Given the description of an element on the screen output the (x, y) to click on. 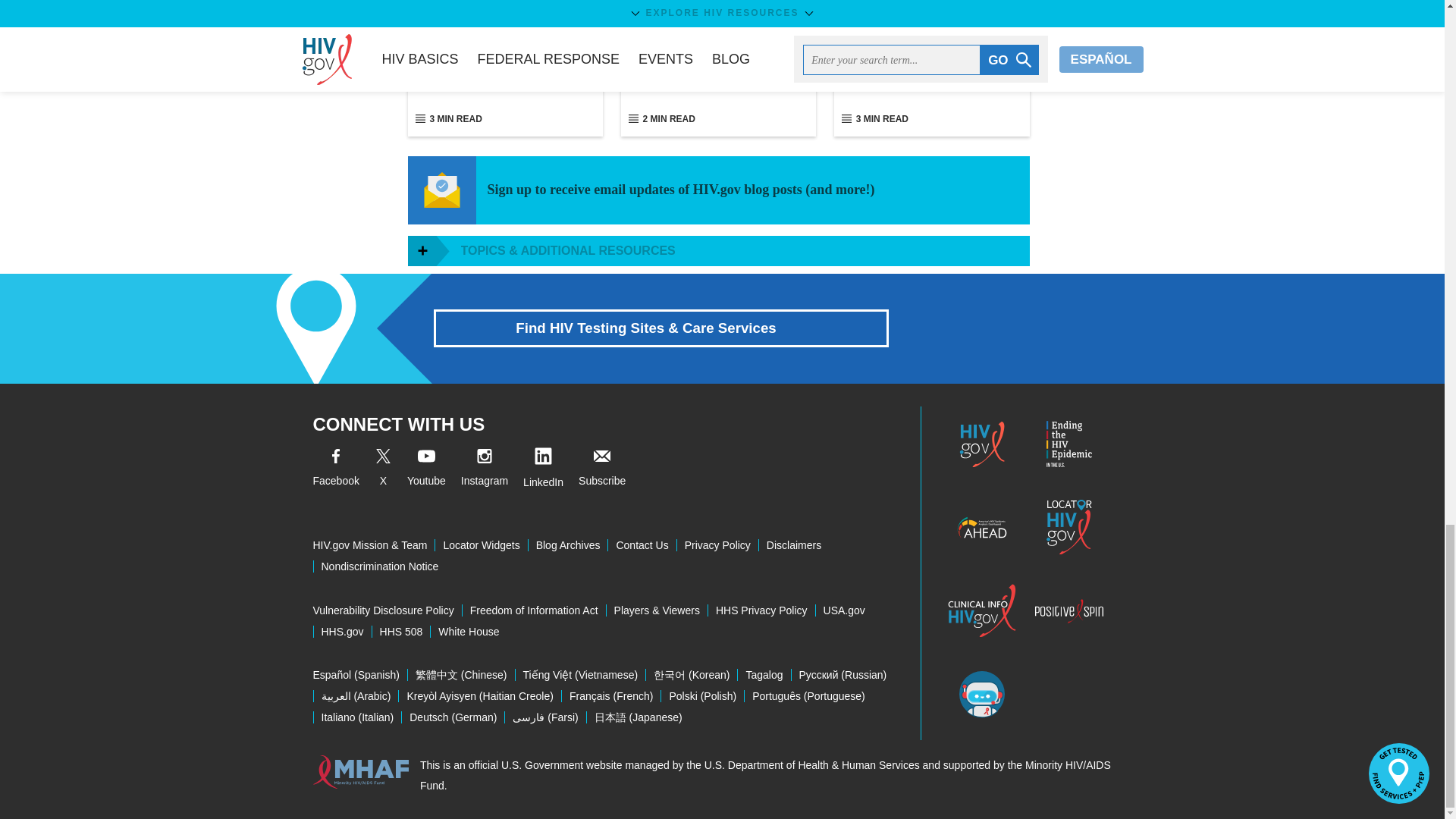
Visit HIV.gov on Facebook (335, 470)
Visit to subscribe to HIV.gov email updates (602, 470)
Visit HIV.gov on Instagram (484, 470)
